Given the description of an element on the screen output the (x, y) to click on. 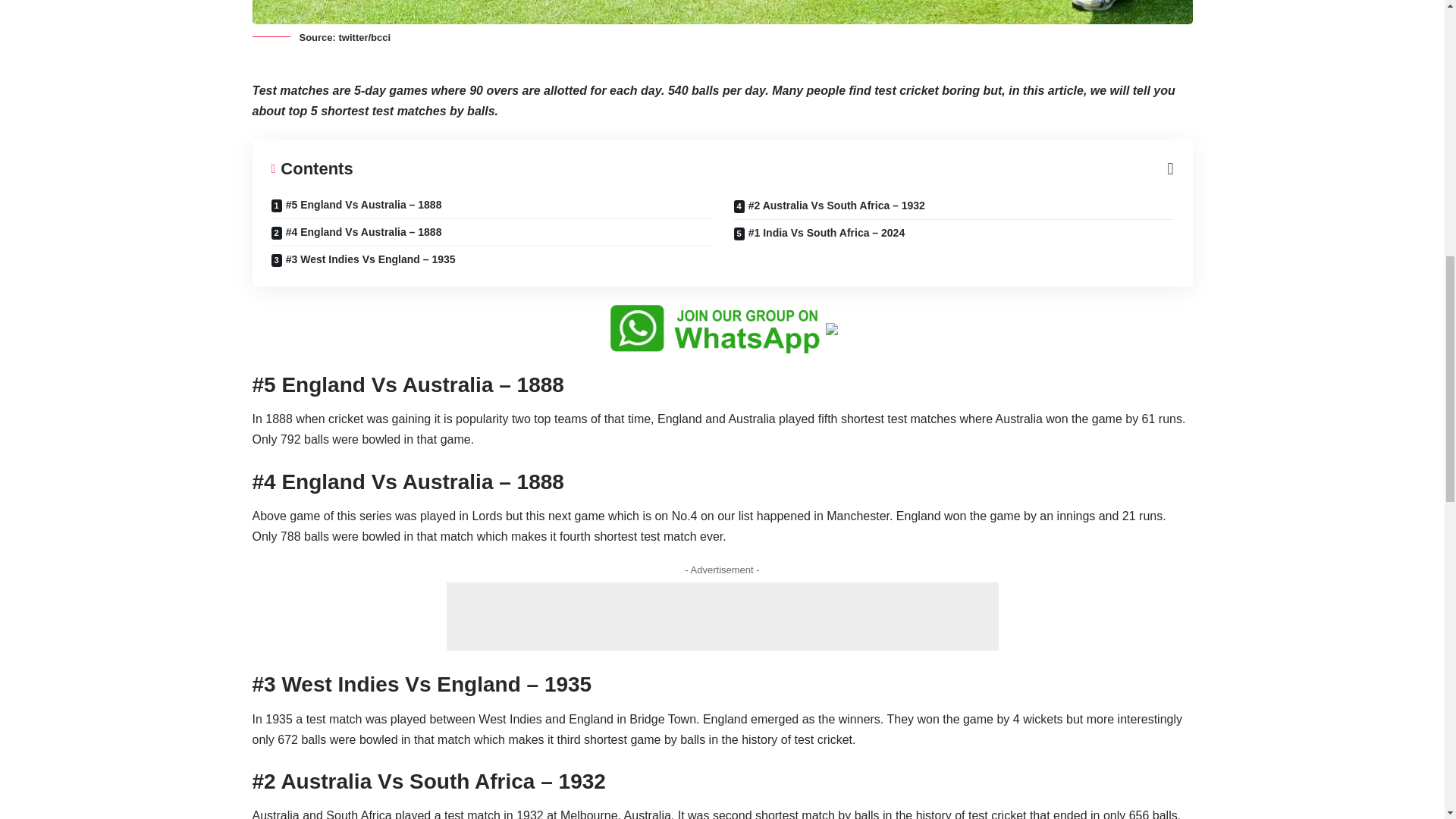
Top 5 shortest test matches by balls 1 (721, 12)
